Given the description of an element on the screen output the (x, y) to click on. 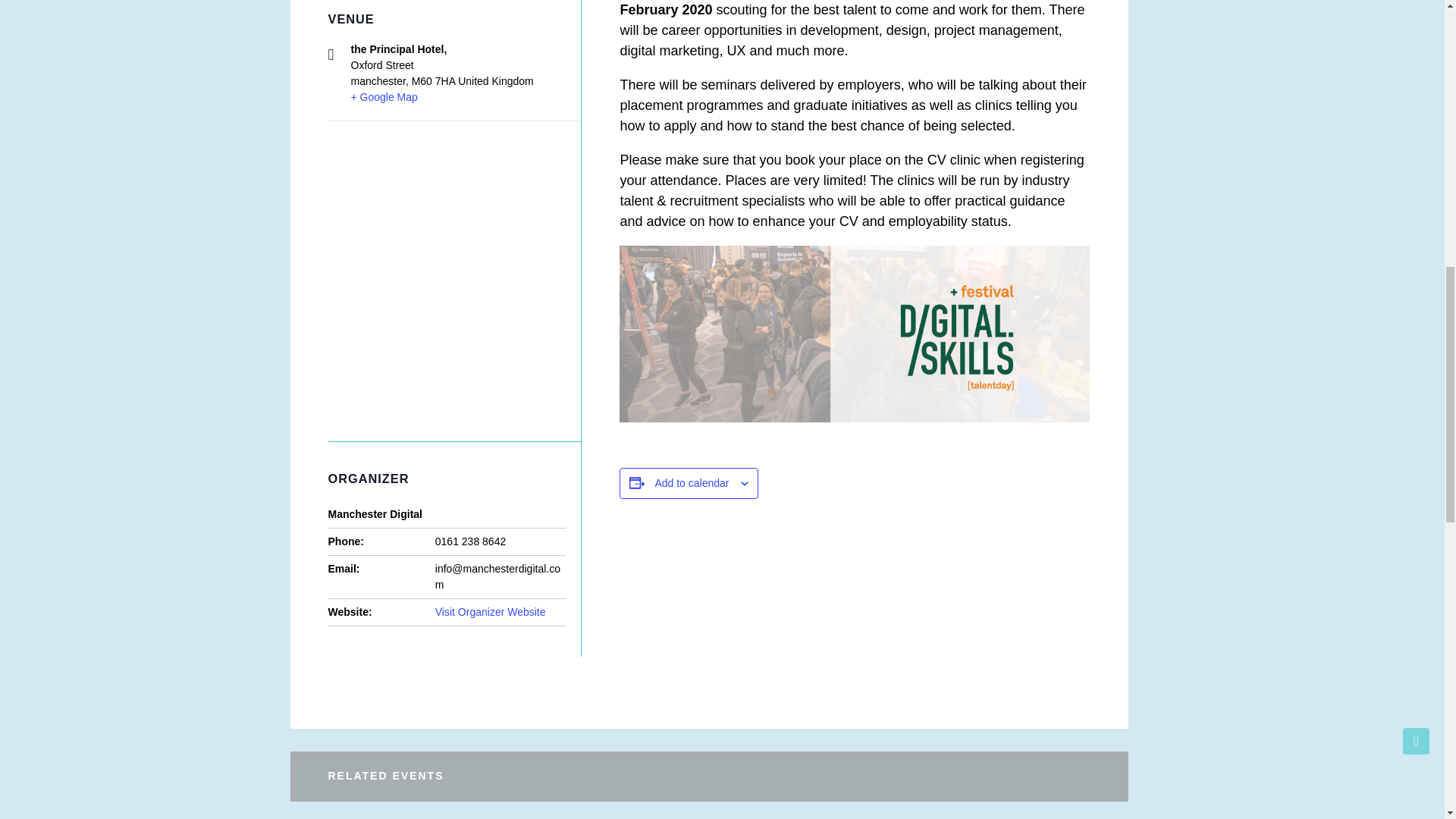
Click to view a Google Map (383, 96)
Visit Organizer Website (490, 612)
Add to calendar (691, 482)
